Given the description of an element on the screen output the (x, y) to click on. 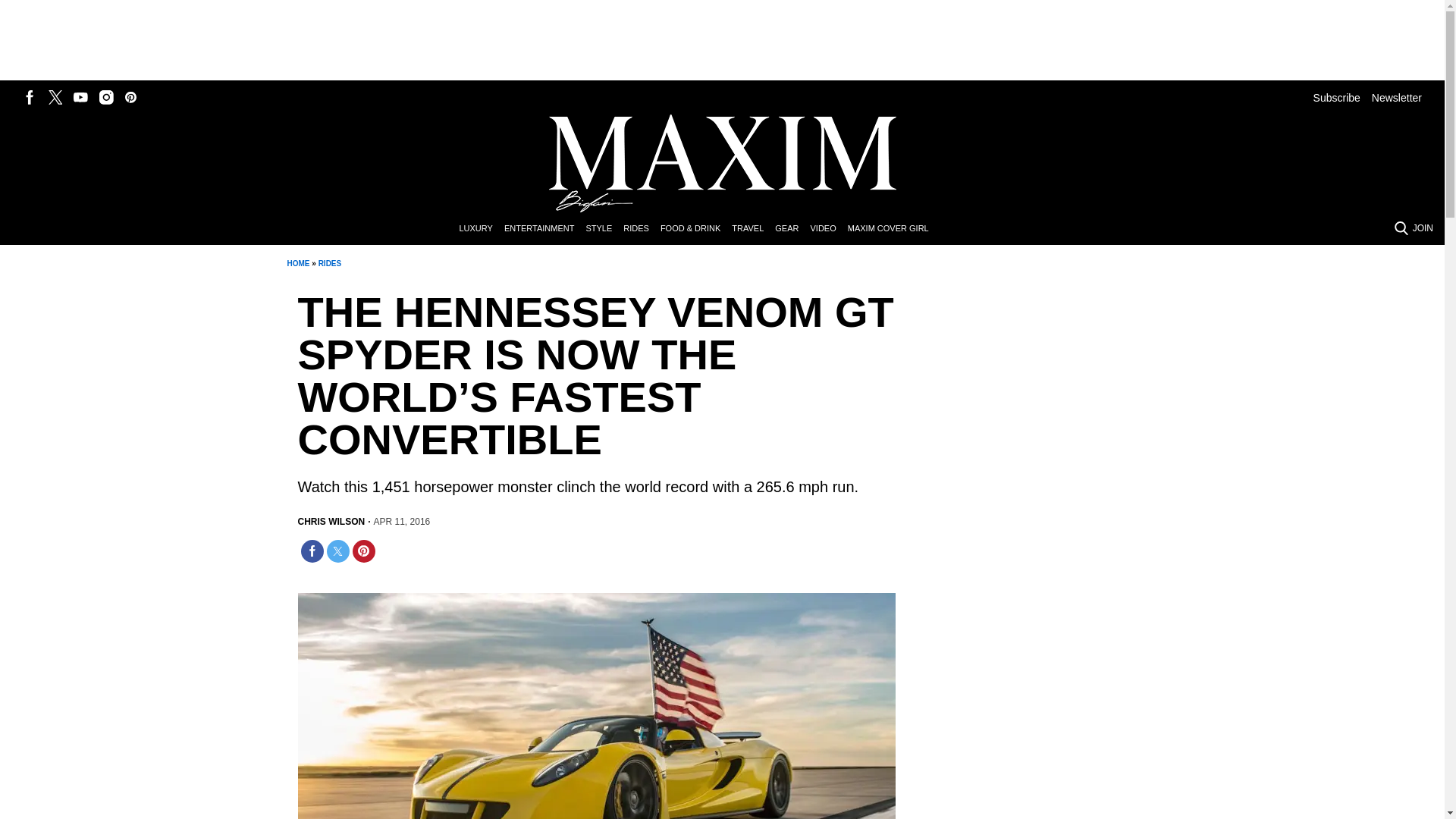
STYLE (604, 228)
HOME (297, 263)
LUXURY (480, 228)
GEAR (791, 228)
Share on Facebook (311, 550)
Posts by Chris Wilson (331, 521)
Follow us on Instagram (106, 97)
Newsletter (1396, 97)
TRAVEL (753, 228)
Subscribe (1336, 97)
